Given the description of an element on the screen output the (x, y) to click on. 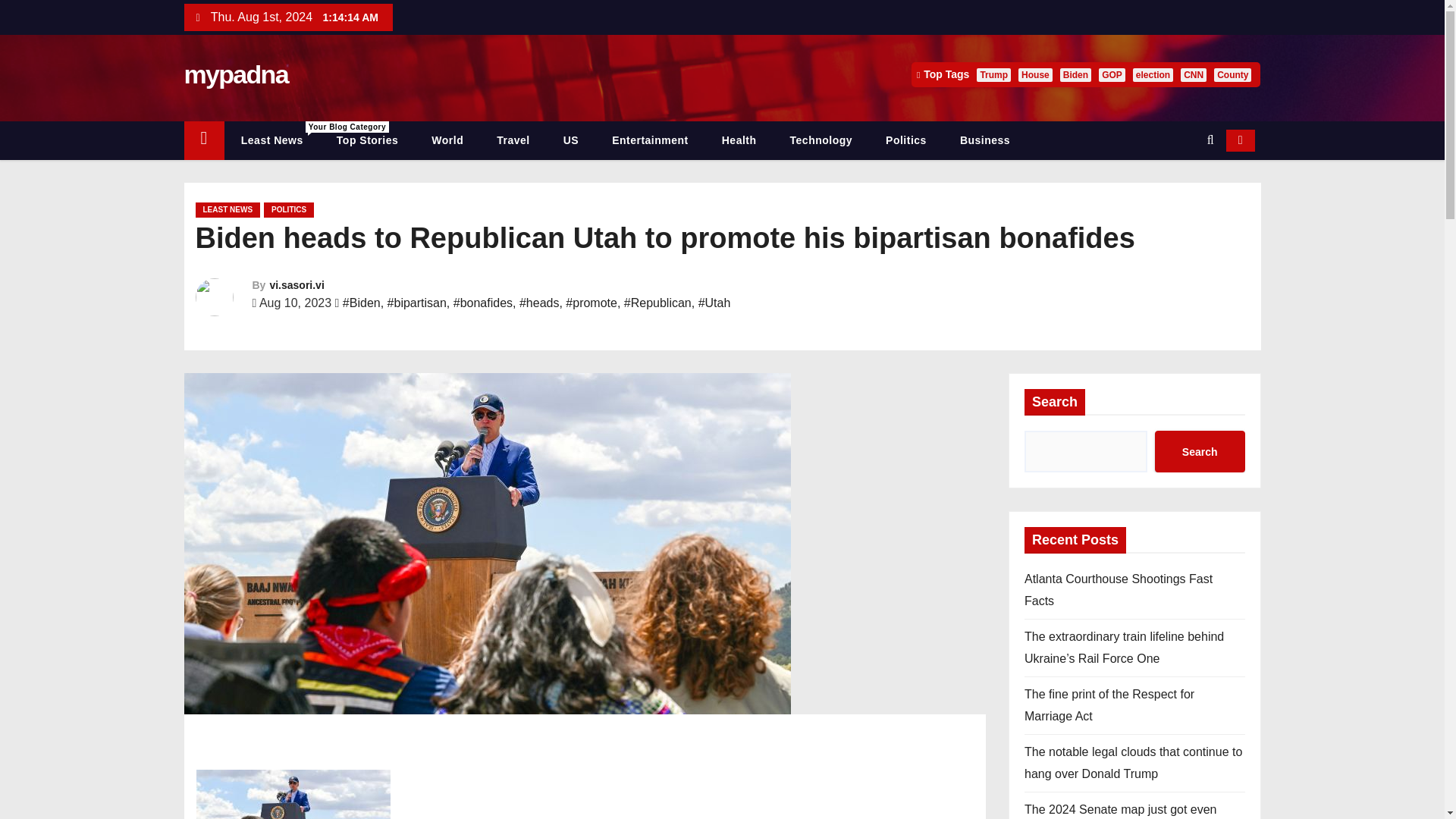
Top Stories (367, 140)
Health (738, 140)
US (571, 140)
Entertainment (272, 140)
Technology (649, 140)
Home (821, 140)
County (203, 140)
Biden (1232, 74)
World (1074, 74)
election (447, 140)
Entertainment (1152, 74)
Travel (649, 140)
Politics (513, 140)
House (906, 140)
